Given the description of an element on the screen output the (x, y) to click on. 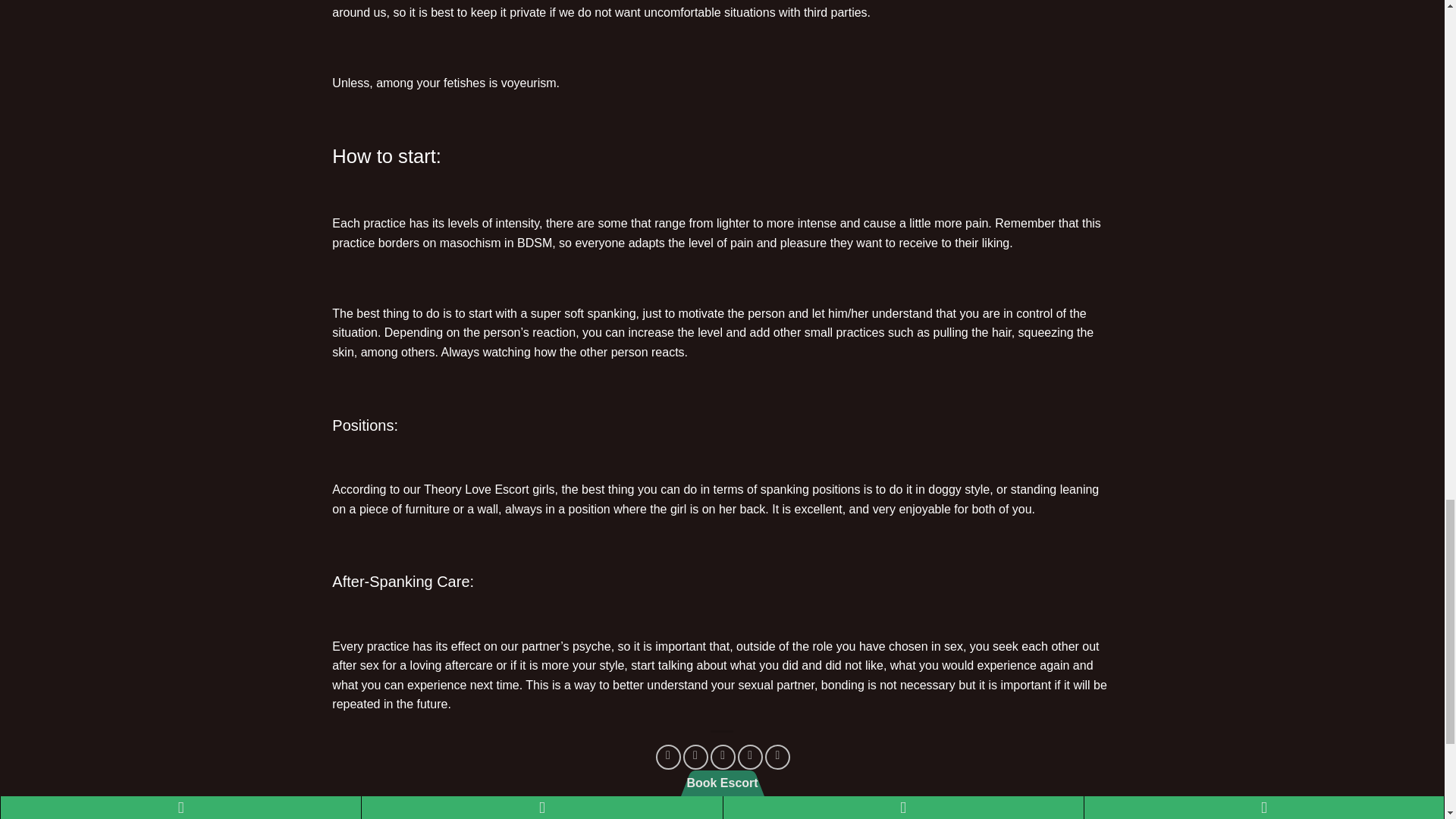
Share on LinkedIn (777, 756)
Share on Facebook (668, 756)
Email to a Friend (722, 756)
Pin on Pinterest (750, 756)
Share on Twitter (694, 756)
